Given the description of an element on the screen output the (x, y) to click on. 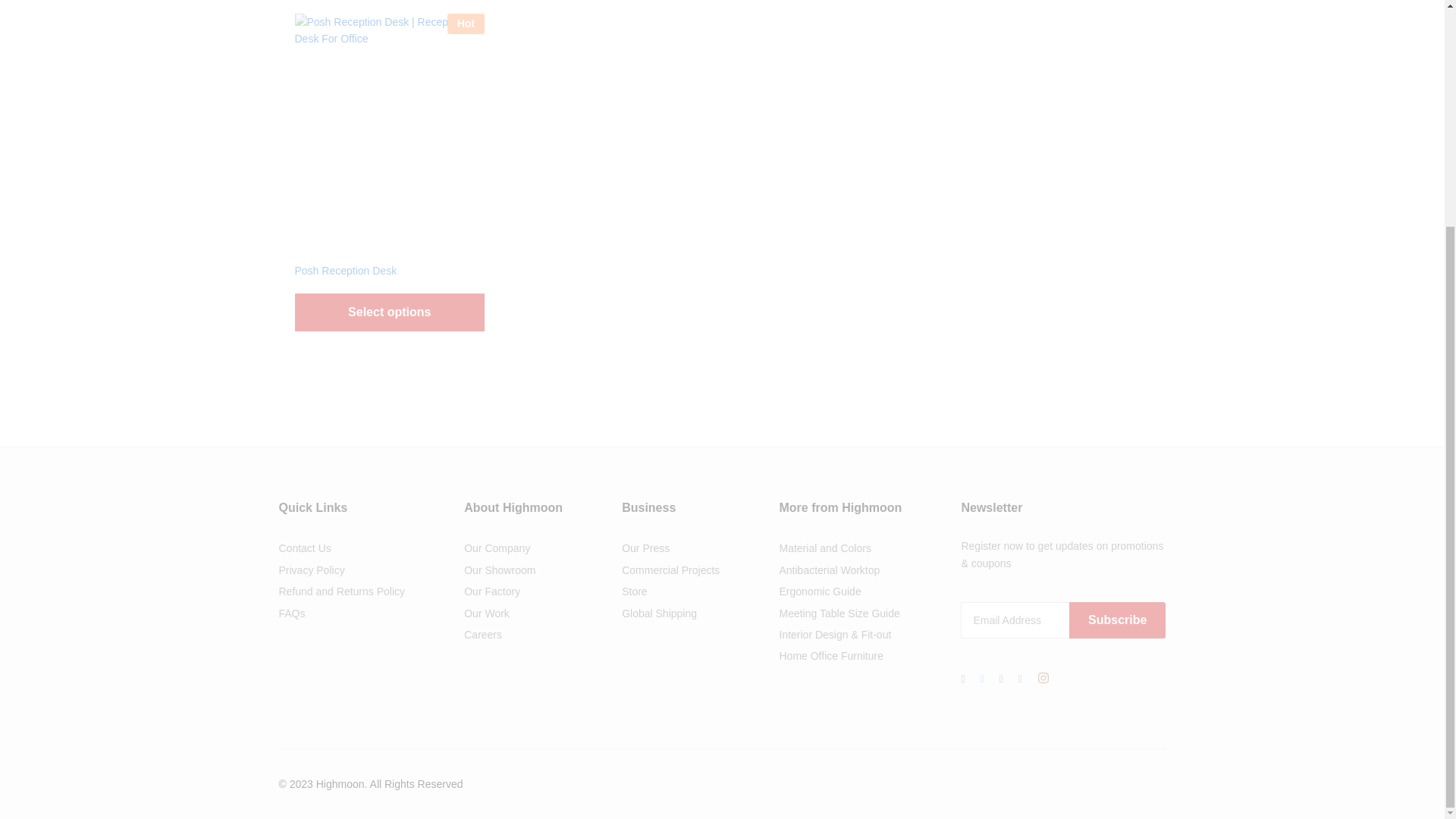
Twitter (981, 678)
Subscribe (1117, 619)
Linkedin (1019, 678)
Youtube (1000, 678)
Instagram (1043, 678)
Facebook (962, 678)
